Given the description of an element on the screen output the (x, y) to click on. 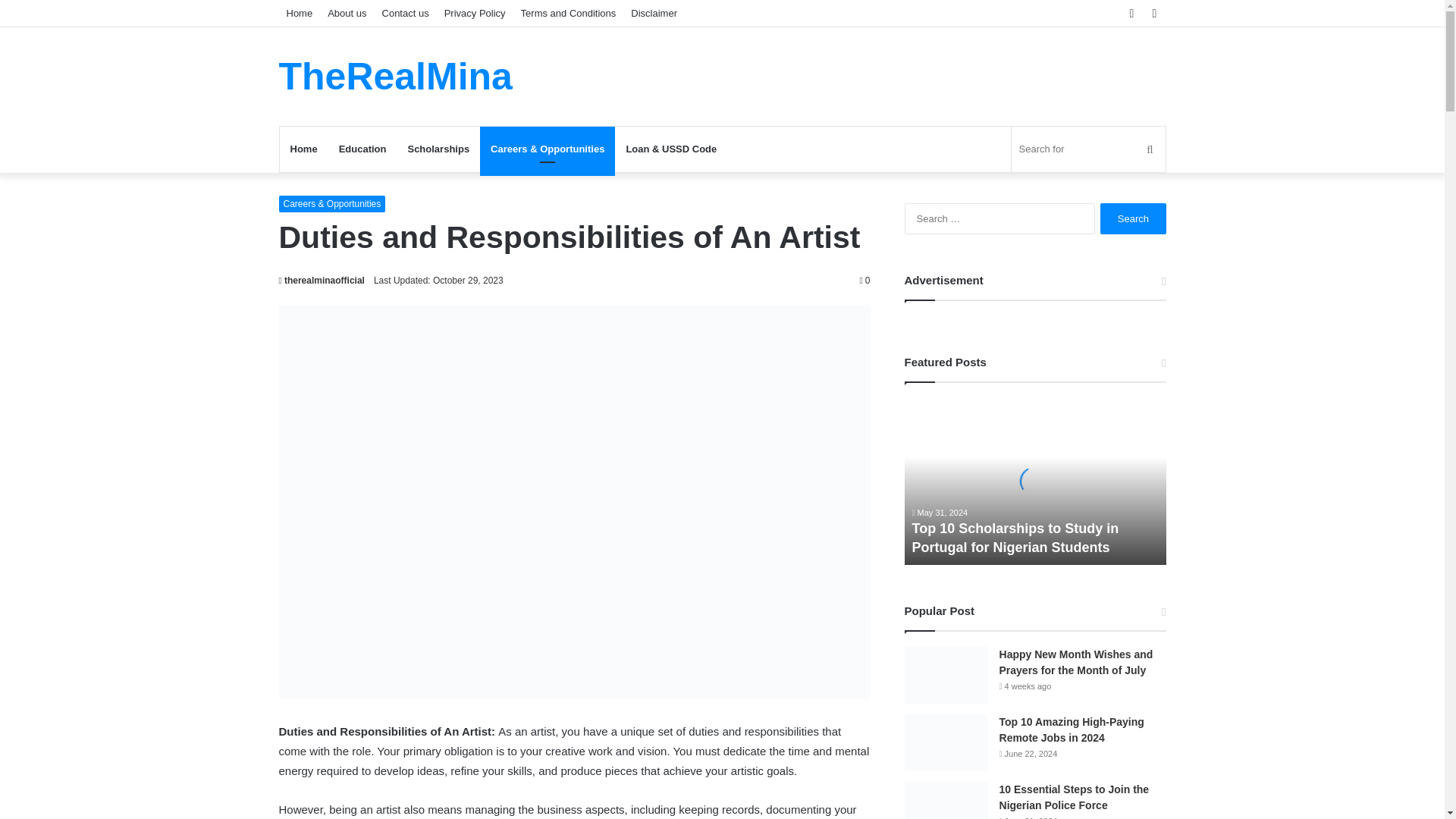
Search (1133, 218)
Search for (1088, 148)
Disclaimer (653, 13)
Search for (1149, 148)
Home (303, 148)
Search (1133, 218)
Privacy Policy (474, 13)
Home (299, 13)
Terms and Conditions (568, 13)
Random Article (1131, 13)
Contact us (405, 13)
TheRealMina (395, 76)
Sidebar (1154, 13)
TheRealMina (395, 76)
Scholarships (438, 148)
